Given the description of an element on the screen output the (x, y) to click on. 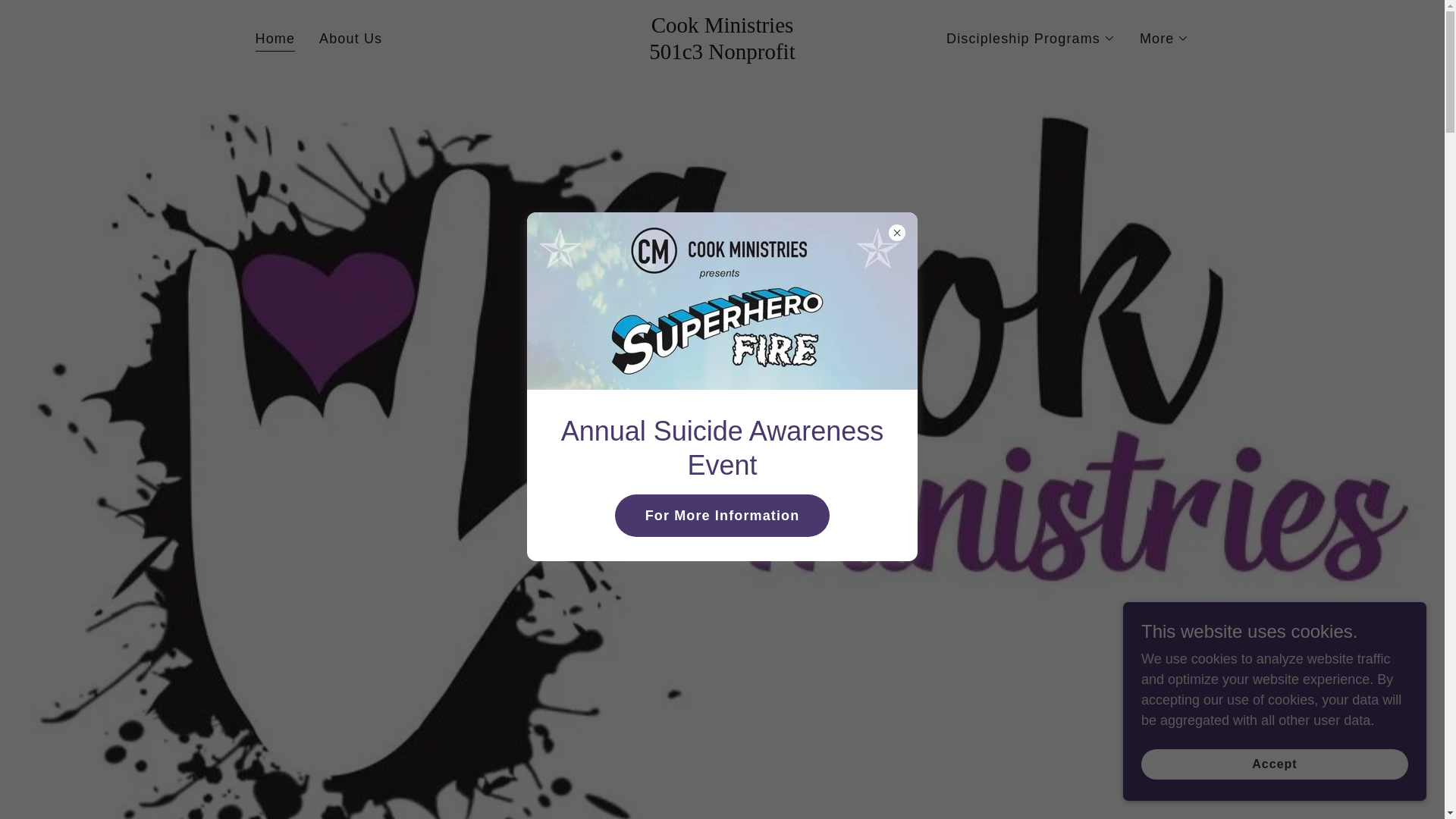
Discipleship Programs (721, 54)
About Us (721, 54)
Home (1030, 38)
